Given the description of an element on the screen output the (x, y) to click on. 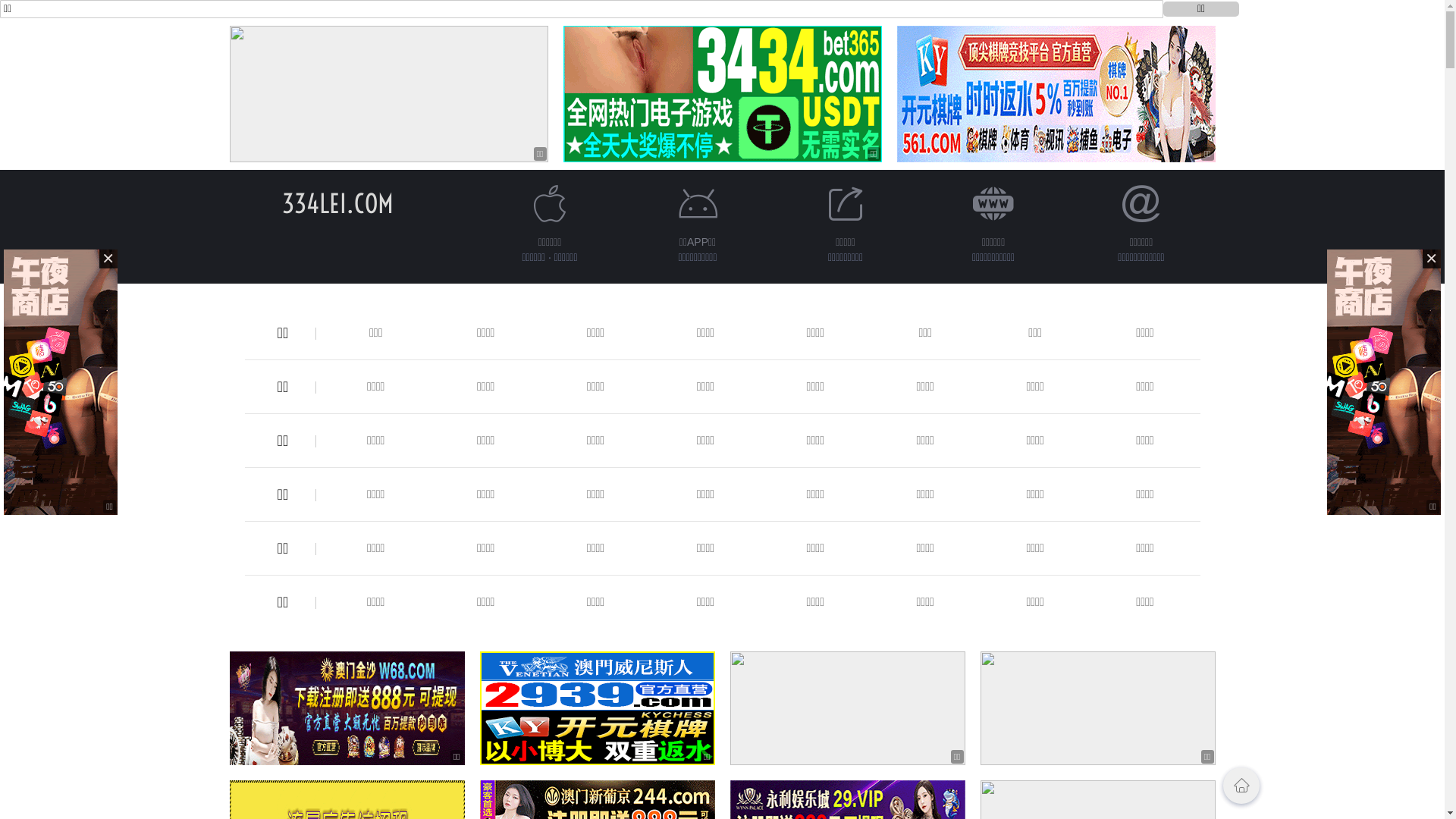
334LEI.COM Element type: text (337, 203)
